Given the description of an element on the screen output the (x, y) to click on. 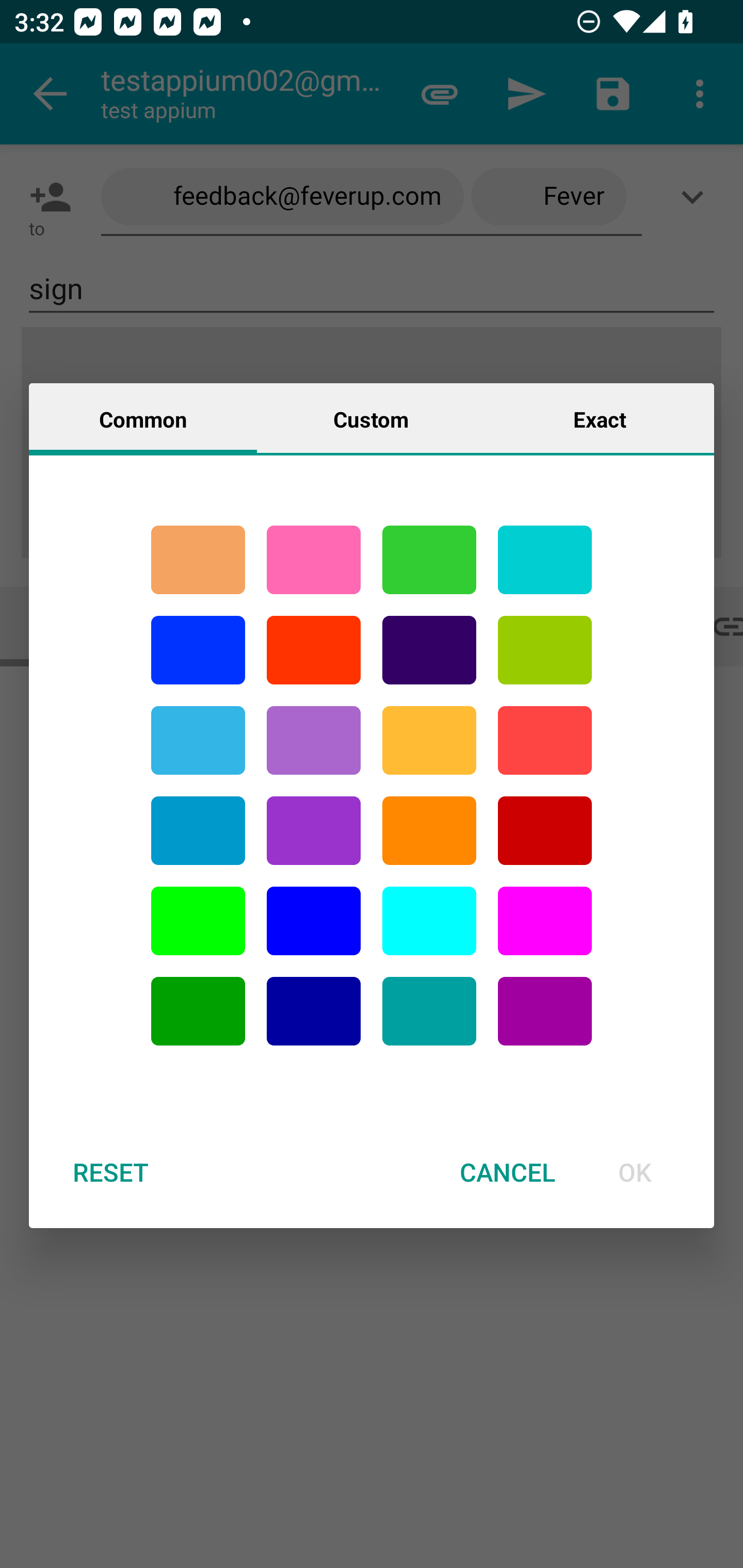
Common (142, 418)
Custom (371, 418)
Exact (599, 418)
Peach (197, 559)
Pink (313, 559)
Green (429, 559)
Cyan (544, 559)
Blue (197, 649)
Red (313, 649)
Dark purple (429, 649)
Light green (544, 649)
Cyan (197, 739)
Purple (313, 739)
Light orange (429, 739)
Light red (544, 739)
Dark cyan (197, 830)
Purple (313, 830)
Orange (429, 830)
Dark red (544, 830)
Light green (197, 920)
Blue (313, 920)
Light cyan (429, 920)
Light purple (544, 920)
Dark green (197, 1010)
Dark blue (313, 1010)
Cyan (429, 1010)
Purple (544, 1010)
RESET (110, 1171)
CANCEL (507, 1171)
OK (634, 1171)
